Given the description of an element on the screen output the (x, y) to click on. 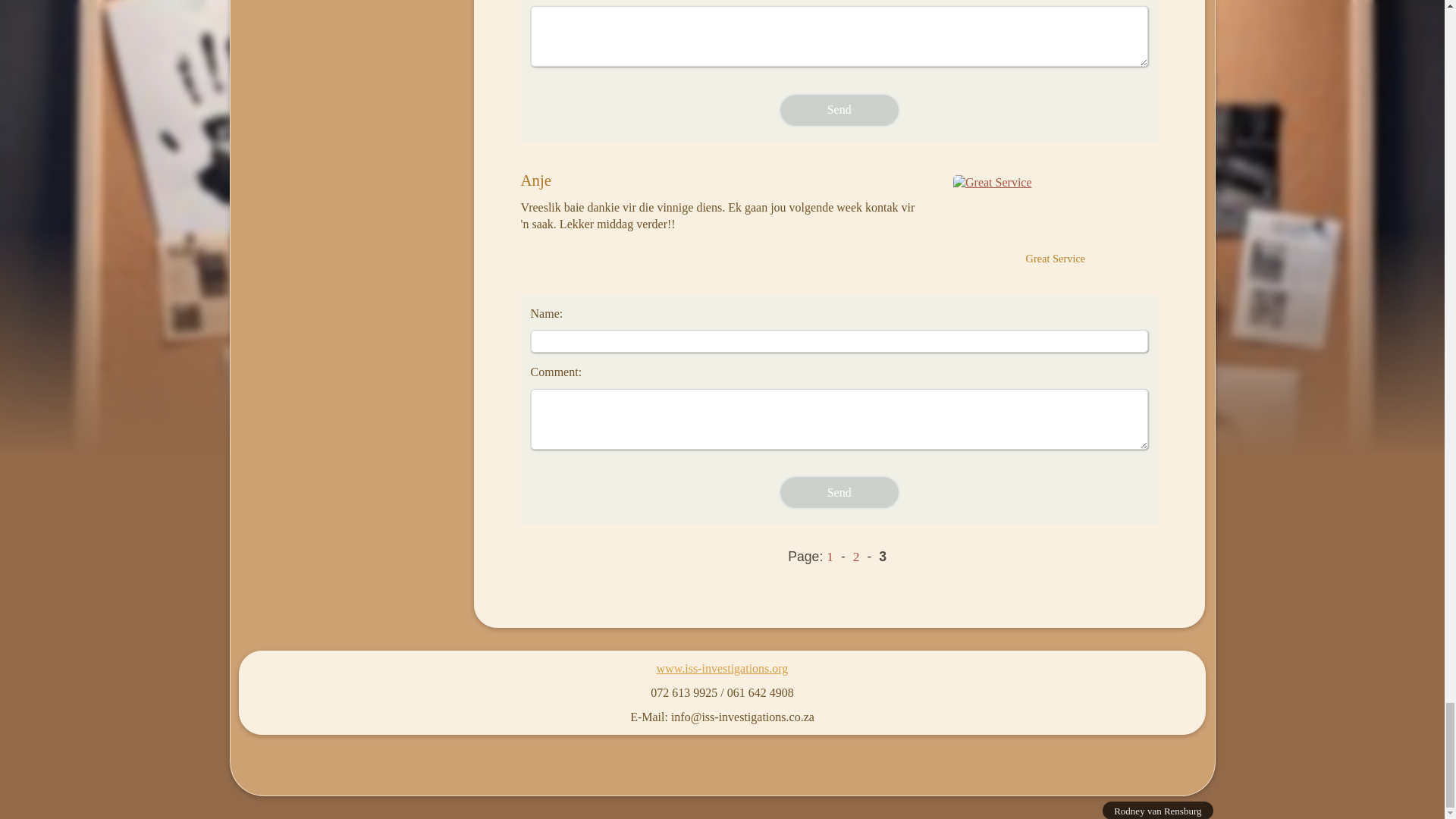
Send (838, 110)
2 (855, 556)
1 (829, 556)
Send (838, 110)
Send (838, 492)
www.iss-investigations.org (722, 667)
Send (838, 492)
